Given the description of an element on the screen output the (x, y) to click on. 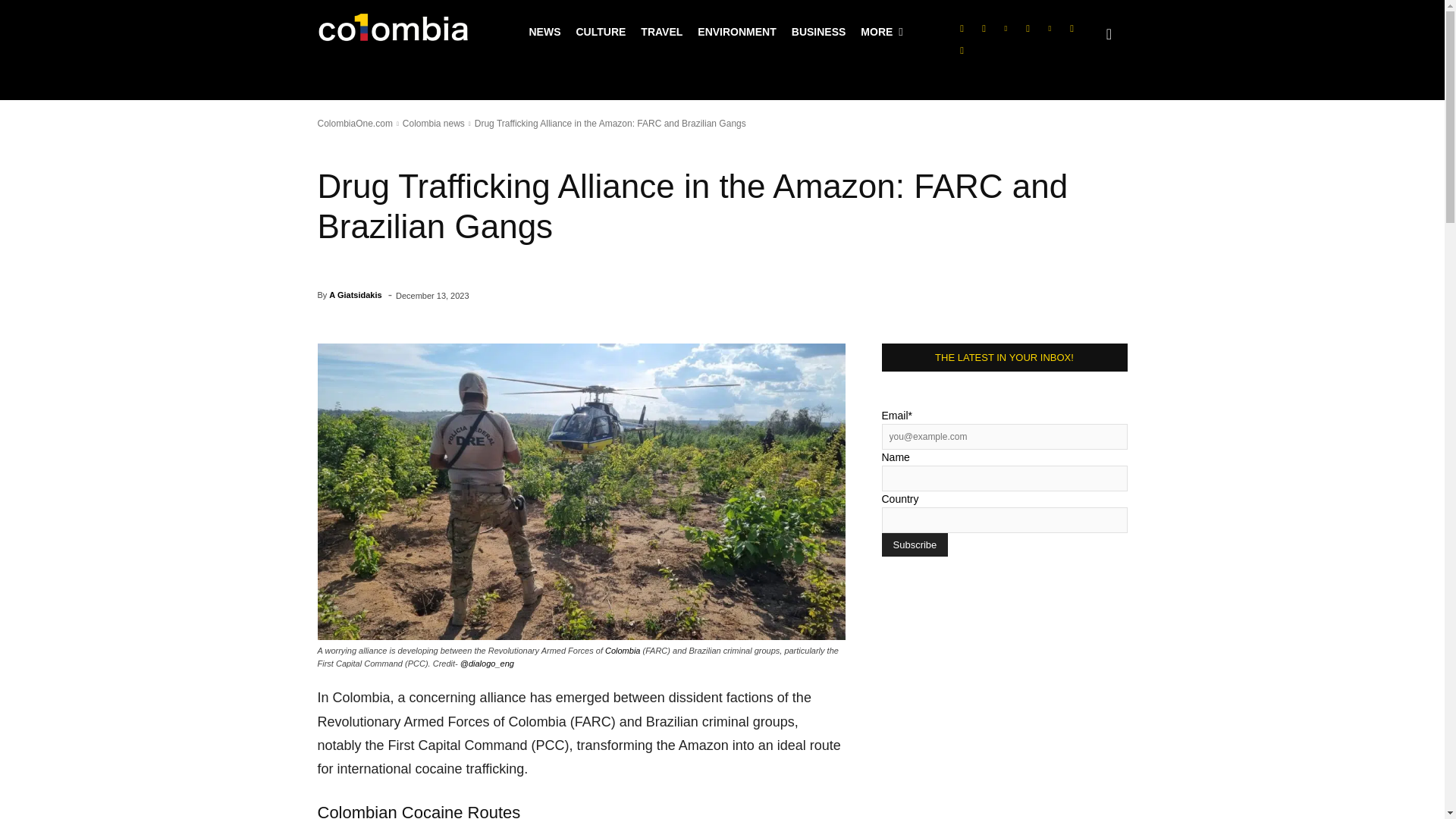
Facebook (962, 28)
Colombia One: News from Colombia (392, 31)
ENVIRONMENT (736, 31)
Twitter (1050, 28)
Newsletter (962, 50)
TikTok (1026, 28)
Linkedin (1005, 28)
Youtube (1071, 28)
Instagram (983, 28)
Subscribe (913, 544)
